Given the description of an element on the screen output the (x, y) to click on. 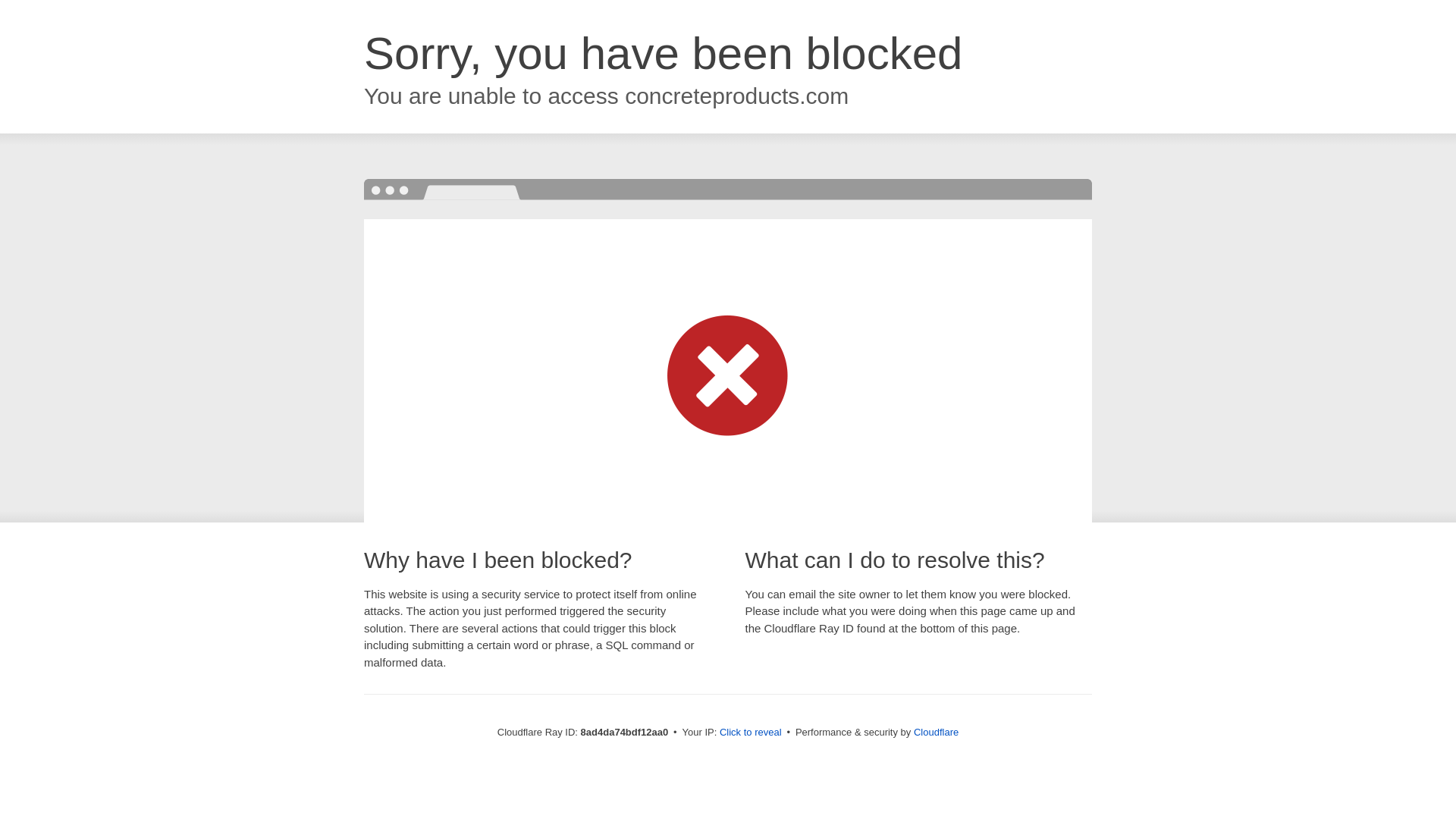
Cloudflare (936, 731)
Click to reveal (750, 732)
